Given the description of an element on the screen output the (x, y) to click on. 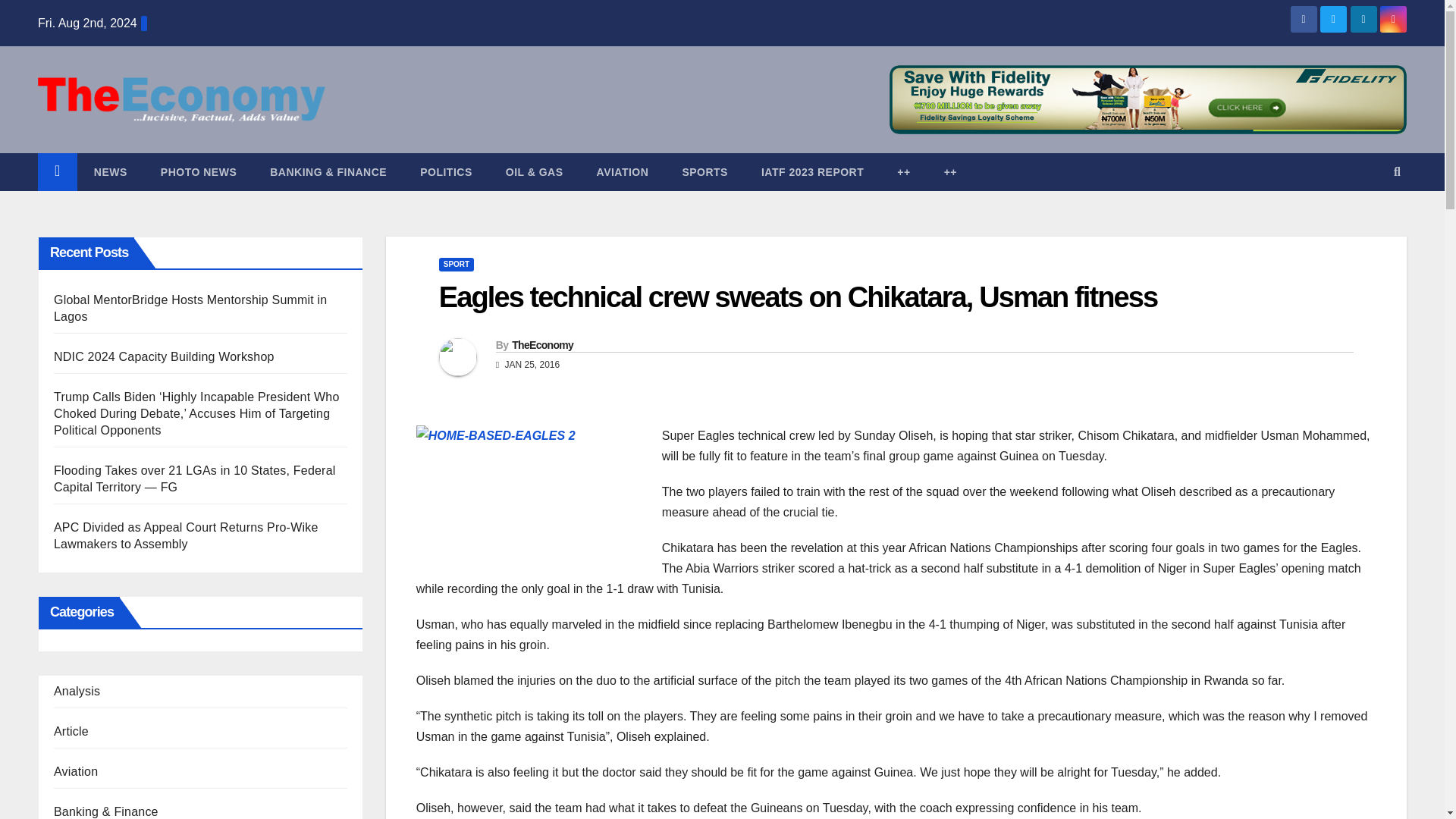
Politics (446, 171)
PHOTO NEWS (198, 171)
POLITICS (446, 171)
IATF 2023 REPORT (812, 171)
NEWS (110, 171)
Sports (704, 171)
News (110, 171)
Photo News (198, 171)
SPORTS (704, 171)
AVIATION (622, 171)
